Given the description of an element on the screen output the (x, y) to click on. 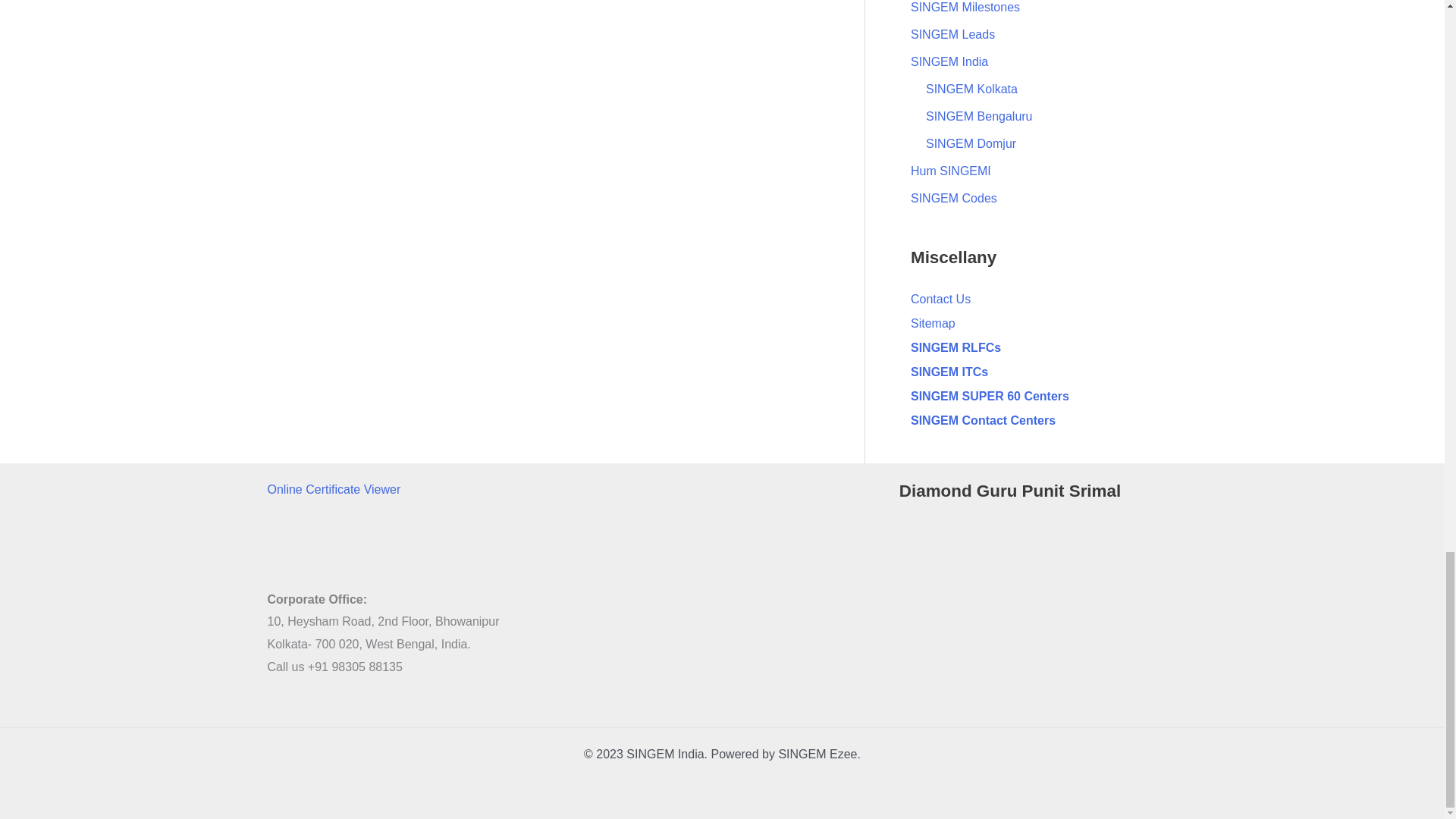
Diamond Guru Punit Srimal's Gateway to Diamonds- I (1038, 598)
